Given the description of an element on the screen output the (x, y) to click on. 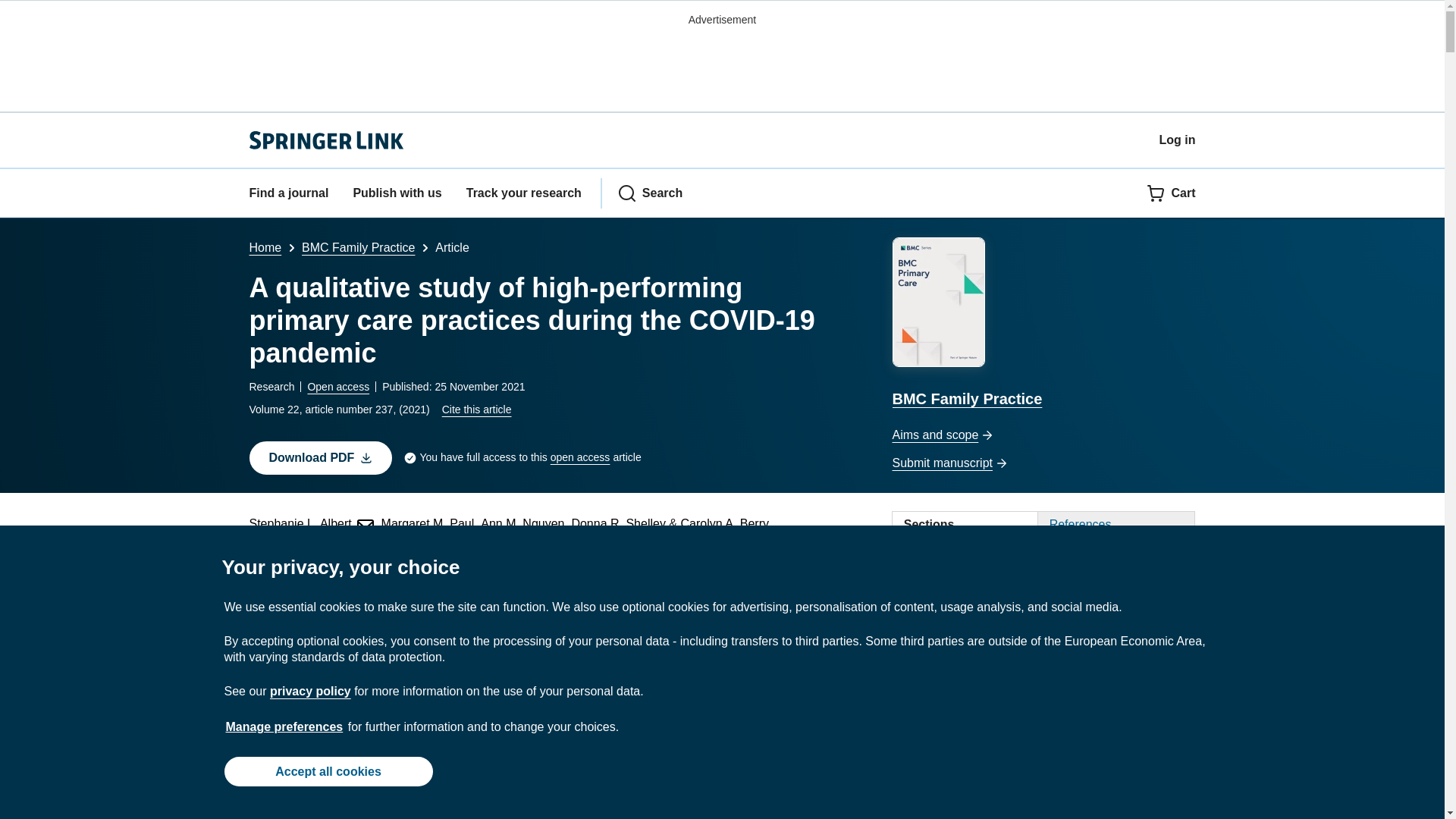
Donna R. Shelley (617, 522)
Margaret M. Paul (427, 522)
Download PDF (319, 458)
Home (264, 246)
BMC Family Practice (357, 246)
Stephanie L. Albert (311, 522)
Carolyn A. Berry (723, 522)
Search (649, 192)
Log in (1177, 139)
